Given the description of an element on the screen output the (x, y) to click on. 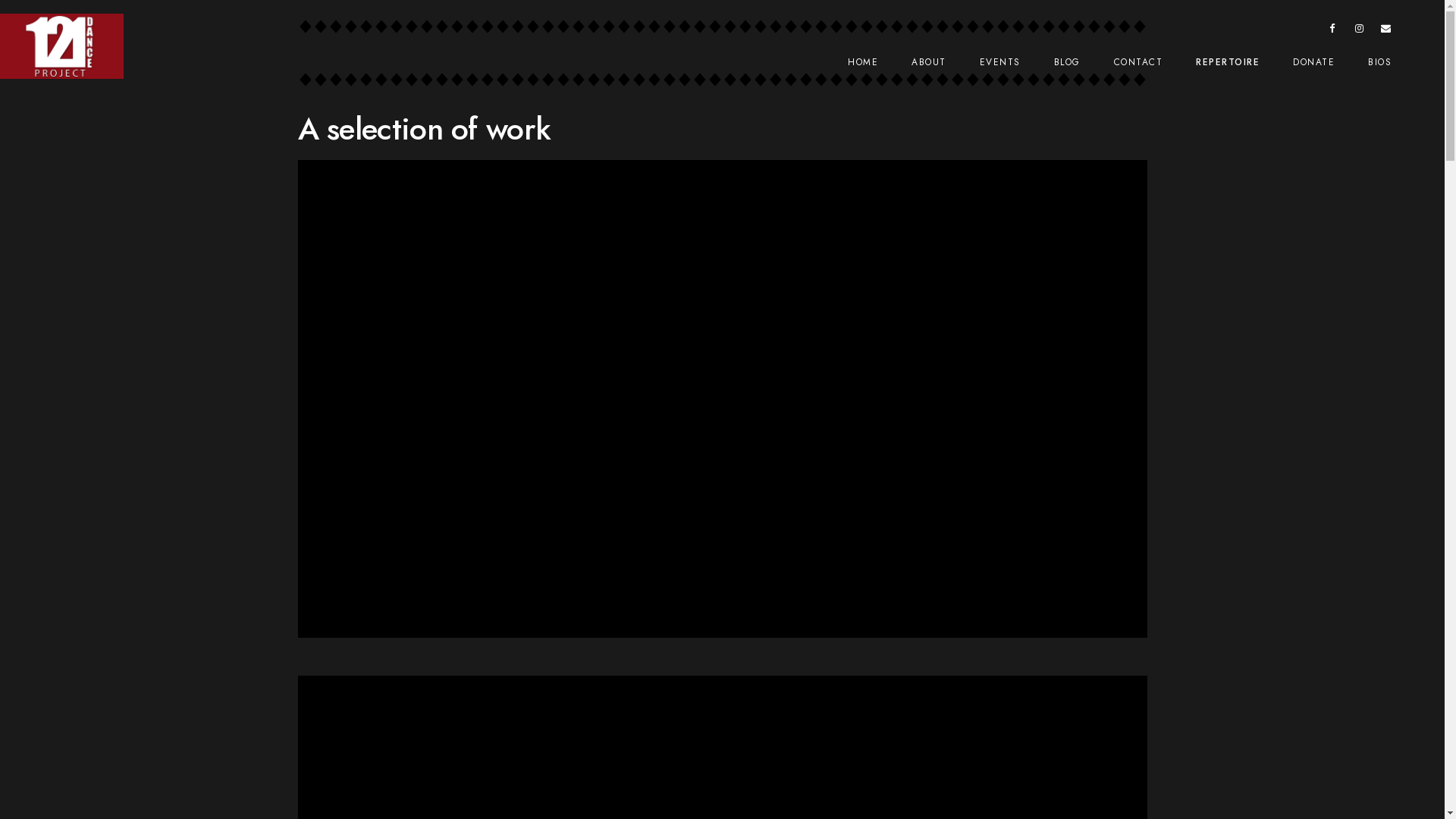
BIOS Element type: text (1379, 62)
vimeo Video Player Element type: hover (721, 398)
ABOUT Element type: text (928, 62)
CONTACT Element type: text (1137, 62)
HOME Element type: text (862, 62)
EVENTS Element type: text (999, 62)
REPERTOIRE Element type: text (1227, 62)
DONATE Element type: text (1313, 62)
BLOG Element type: text (1067, 62)
